Given the description of an element on the screen output the (x, y) to click on. 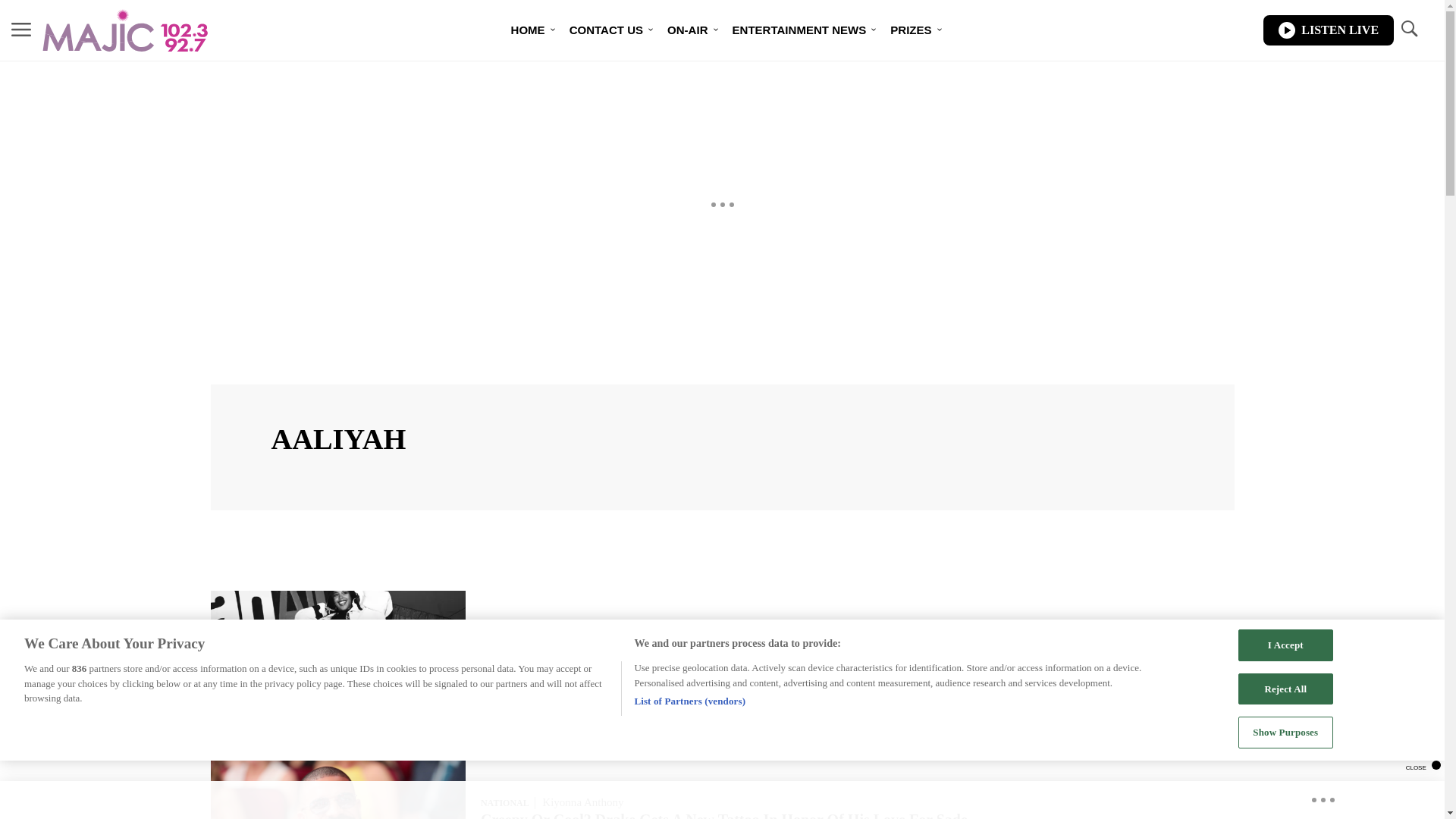
Summer Mini Concert Series: Aaliyah (604, 644)
LISTEN LIVE (1328, 30)
HOME (528, 30)
MENU (20, 29)
MENU (20, 30)
TOGGLE SEARCH (1408, 28)
ON-AIR (687, 30)
NATIONAL (504, 802)
TOGGLE SEARCH (1408, 30)
ENTERTAINMENT NEWS (799, 30)
CONTACT US (606, 30)
PRIZES (910, 30)
Kiyonna Anthony (582, 802)
